Given the description of an element on the screen output the (x, y) to click on. 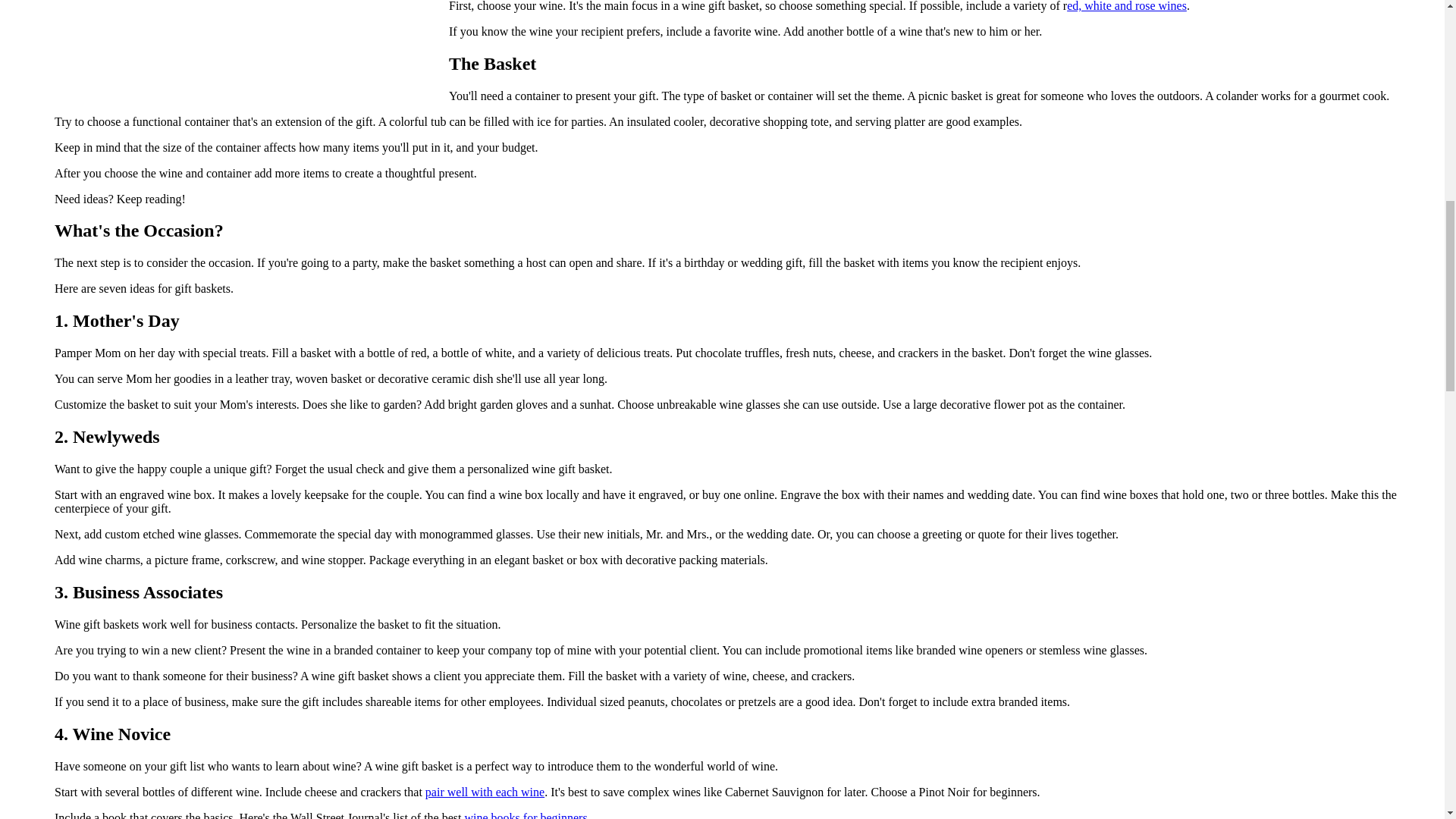
pair well with each wine (484, 791)
ed, white and rose wines (1126, 6)
wine books for beginners (525, 815)
